Given the description of an element on the screen output the (x, y) to click on. 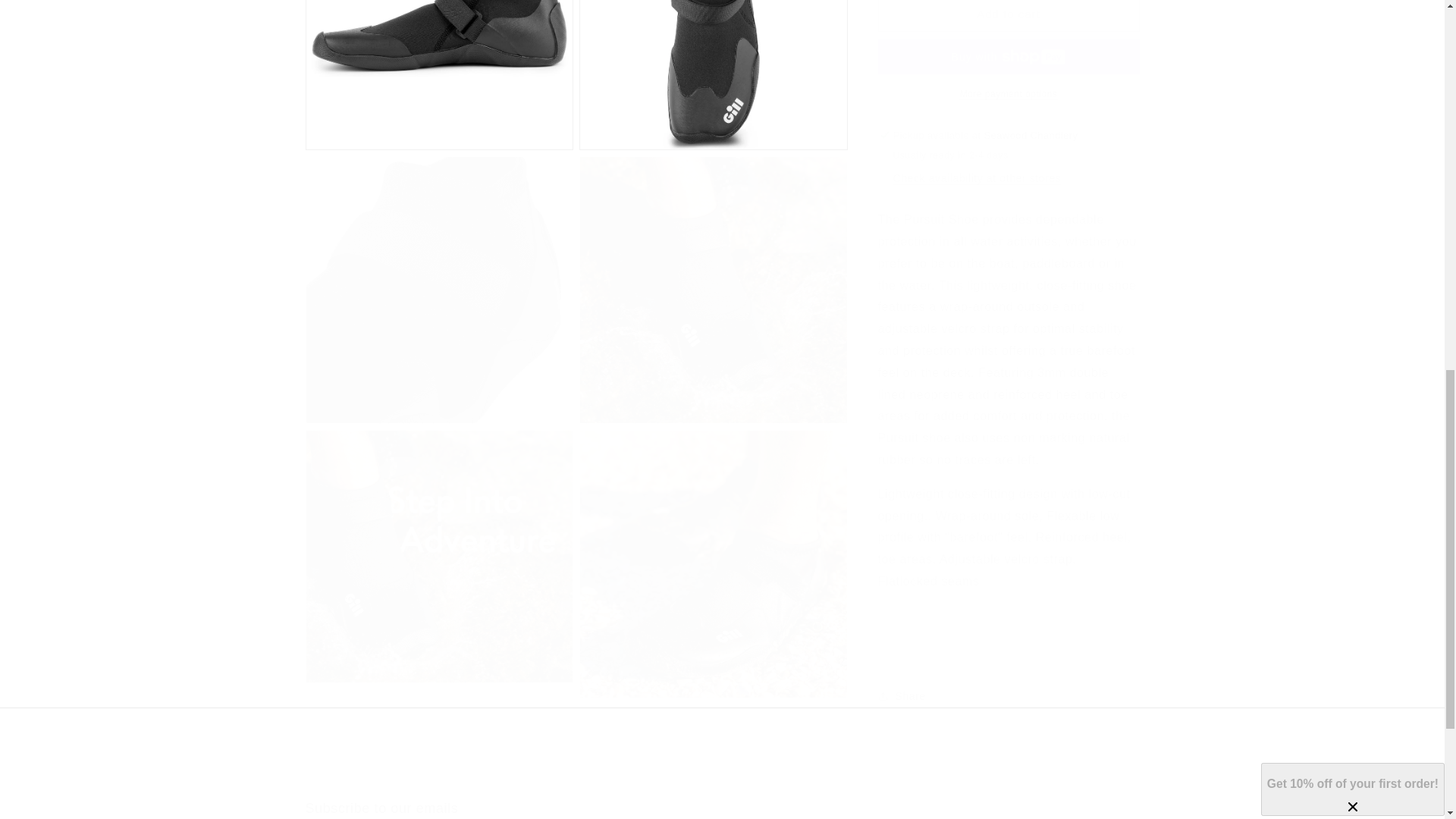
Open media 4 in modal (438, 274)
Open media 2 in modal (721, 809)
Open media 5 in modal (438, 67)
Open media 3 in modal (713, 274)
Open media 7 in modal (713, 67)
Open media 6 in modal (713, 548)
